Given the description of an element on the screen output the (x, y) to click on. 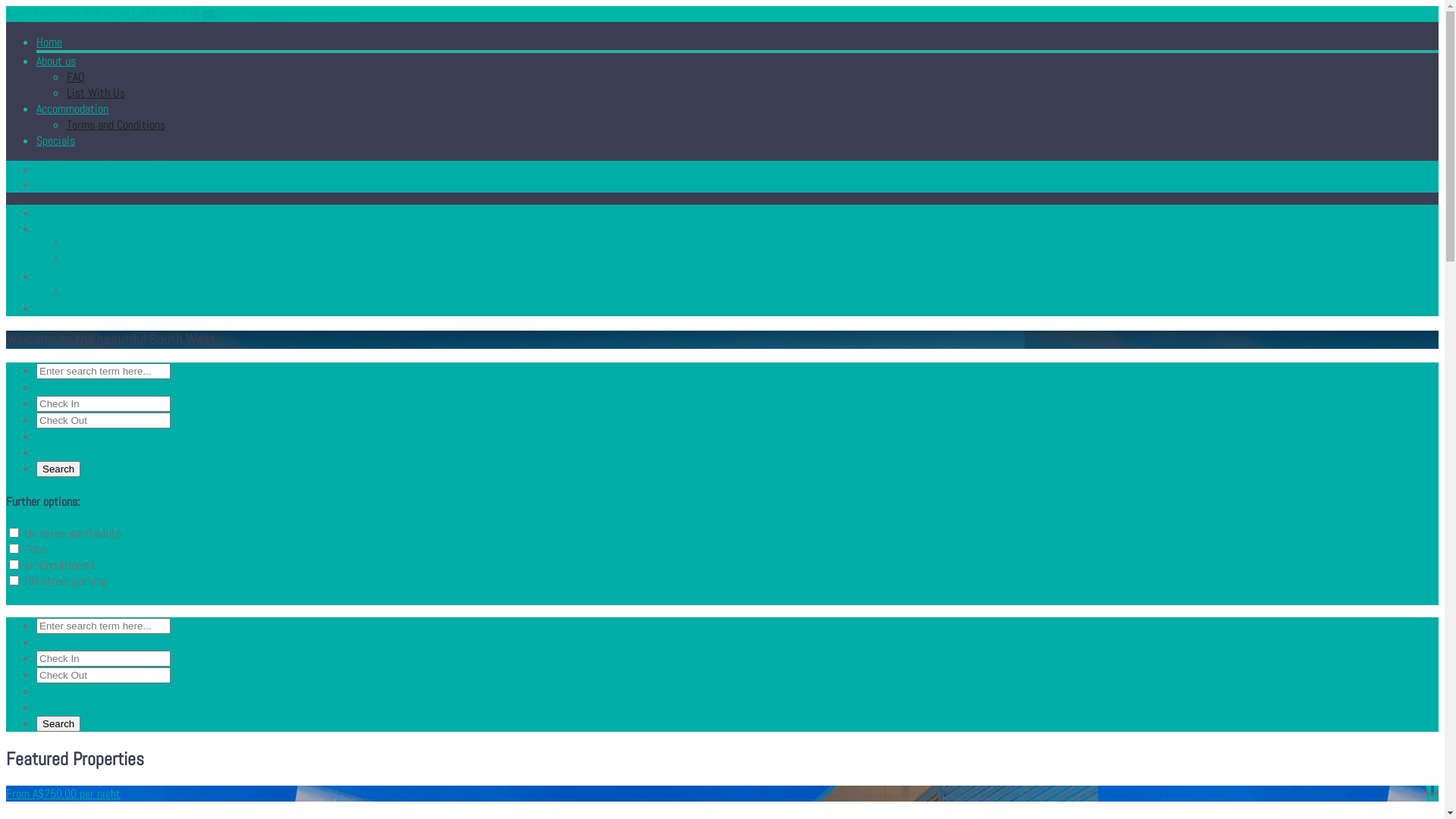
Home Element type: text (49, 212)
Call +61 419 908 338 or +61 431 848 711 Element type: text (136, 168)
Search Element type: text (58, 723)
Click to Email Us Element type: text (76, 184)
+61 419 908 338 or +61 431 848 711 Element type: text (102, 13)
Accommodation Element type: text (72, 108)
Terms and Conditions Element type: text (115, 292)
Accommodation Element type: text (72, 276)
info@housedownsouth.com.au Element type: text (279, 13)
Specials Element type: text (55, 308)
FAQ Element type: text (75, 76)
List With Us Element type: text (95, 260)
Search Element type: text (58, 468)
Terms and Conditions Element type: text (115, 124)
From A$750.00 per night Element type: text (722, 793)
Specials Element type: text (55, 140)
Home Element type: text (49, 42)
Search properties Element type: text (46, 597)
About us Element type: text (55, 228)
List With Us Element type: text (95, 92)
About us Element type: text (55, 61)
FAQ Element type: text (75, 244)
